Given the description of an element on the screen output the (x, y) to click on. 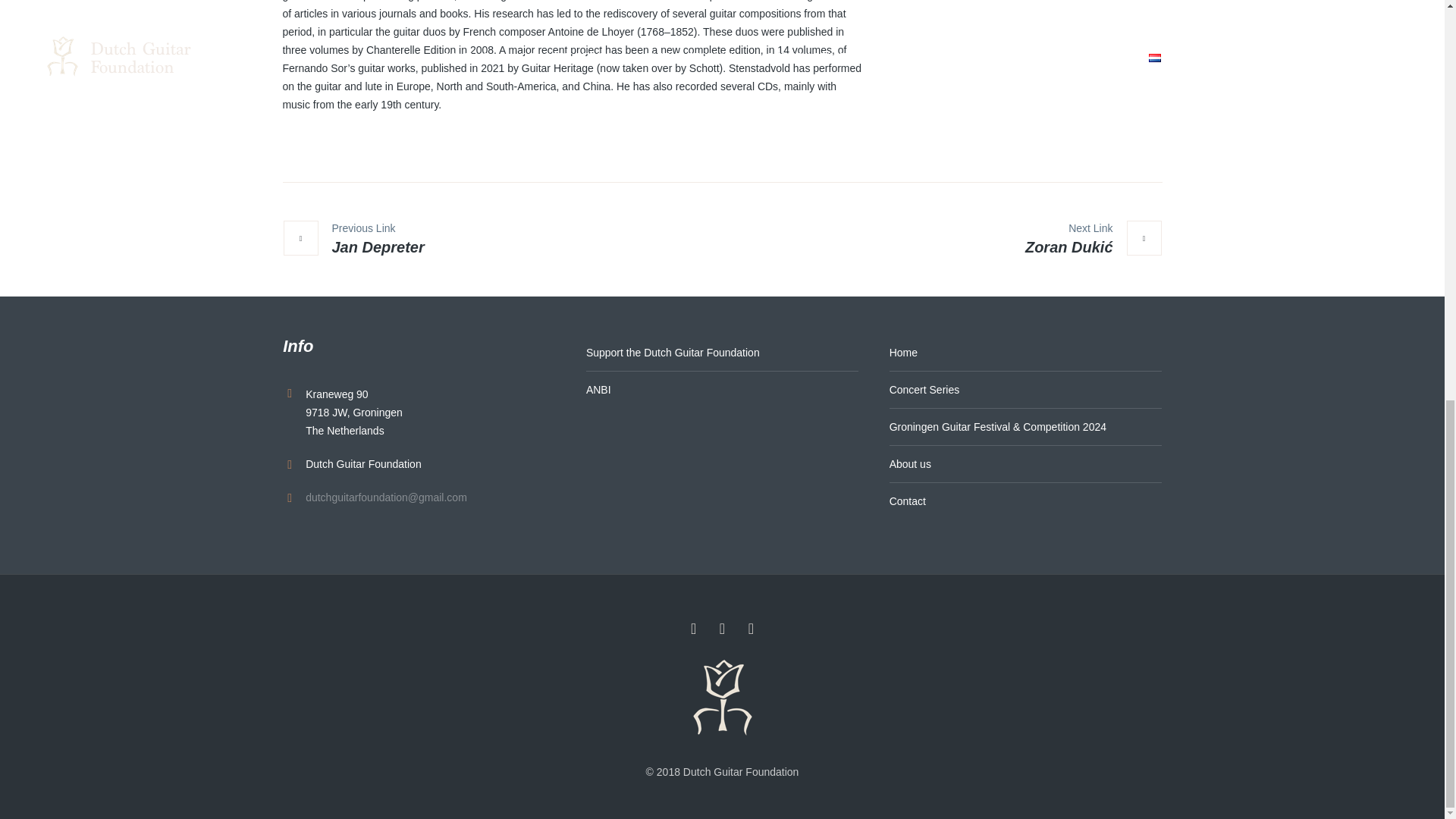
Support the Dutch Guitar Foundation (722, 352)
Twitter (721, 628)
Jan Depreter (352, 239)
Instagram (750, 628)
ANBI (722, 389)
Contact (1025, 501)
Concert Series (1025, 389)
Facebook (693, 628)
About us (1025, 464)
Dutch Guitar Foundation (722, 698)
Home (1025, 352)
